Given the description of an element on the screen output the (x, y) to click on. 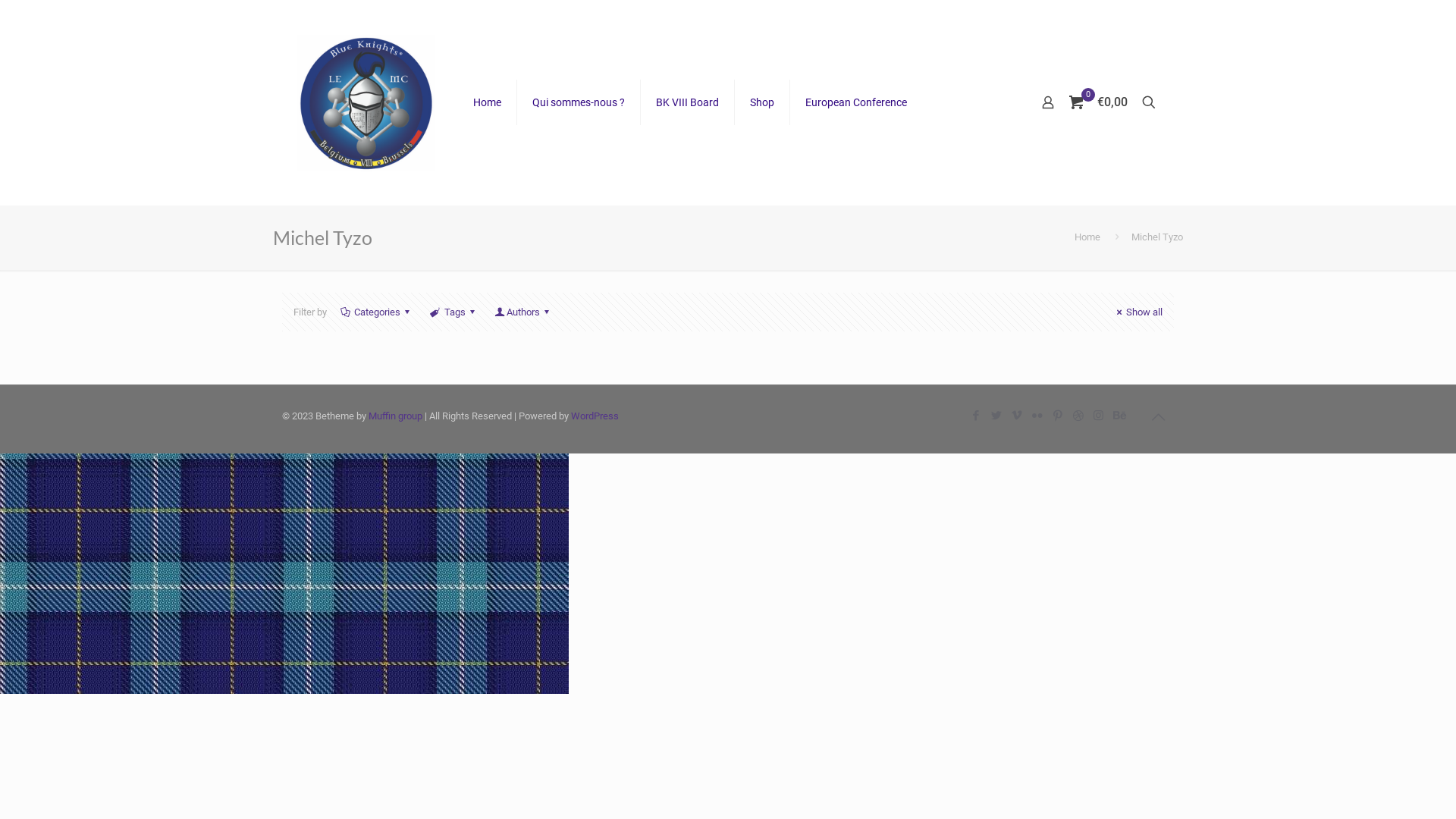
Pinterest Element type: hover (1057, 415)
Qui sommes-nous ? Element type: text (578, 102)
Home Element type: text (487, 102)
Dribbble Element type: hover (1077, 415)
BK VIII Element type: hover (366, 102)
Facebook Element type: hover (975, 415)
Vimeo Element type: hover (1016, 415)
Muffin group Element type: text (395, 415)
Flickr Element type: hover (1036, 415)
Tags Element type: text (453, 311)
Instagram Element type: hover (1098, 415)
Shop Element type: text (762, 102)
Categories Element type: text (377, 311)
European Conference Element type: text (856, 102)
Show all Element type: text (1137, 311)
Authors Element type: text (522, 311)
BK VIII Board Element type: text (687, 102)
WordPress Element type: text (594, 415)
Twitter Element type: hover (996, 415)
Behance Element type: hover (1118, 415)
Home Element type: text (1087, 236)
